Given the description of an element on the screen output the (x, y) to click on. 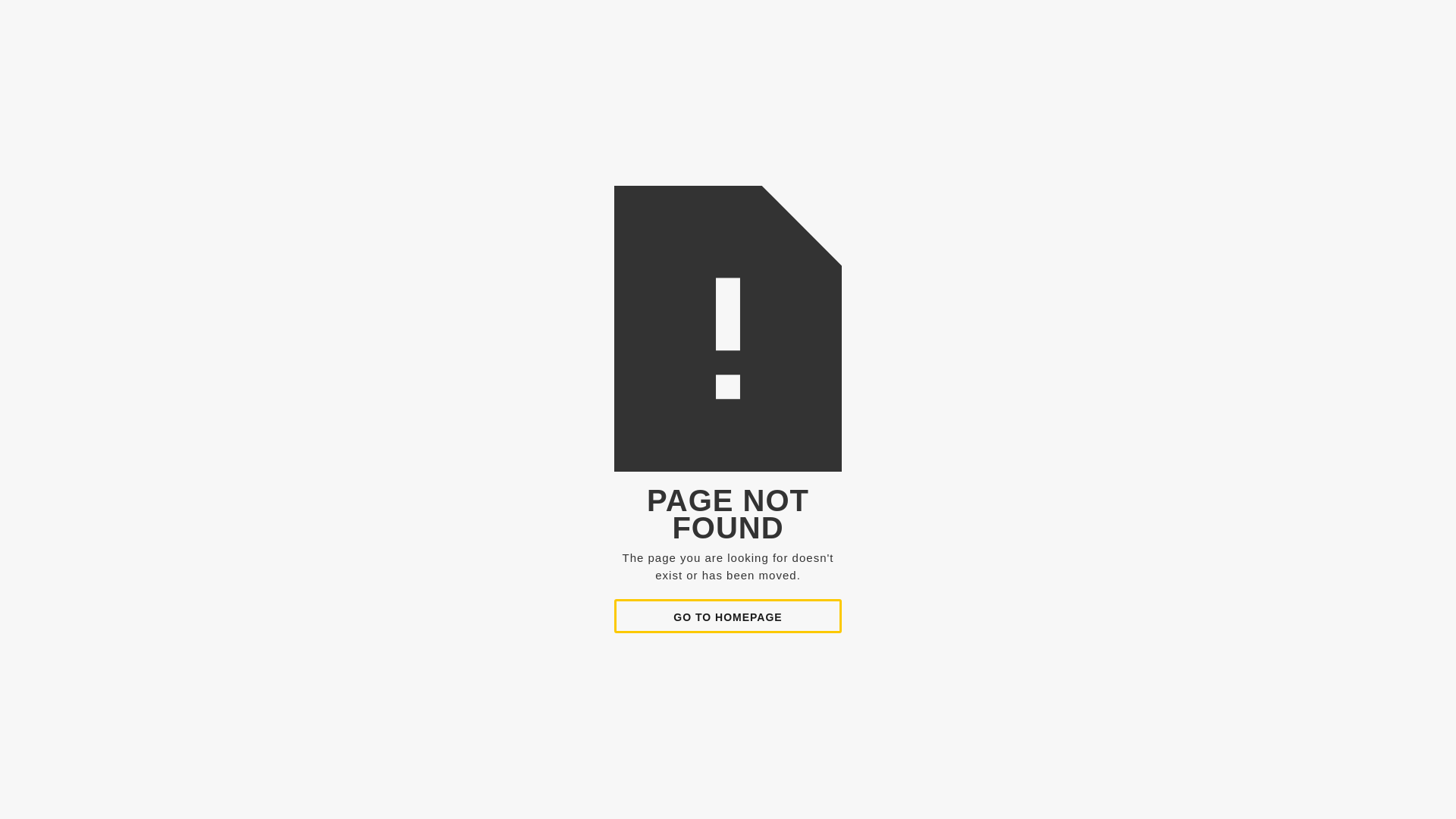
GO TO HOMEPAGE Element type: text (727, 616)
